Given the description of an element on the screen output the (x, y) to click on. 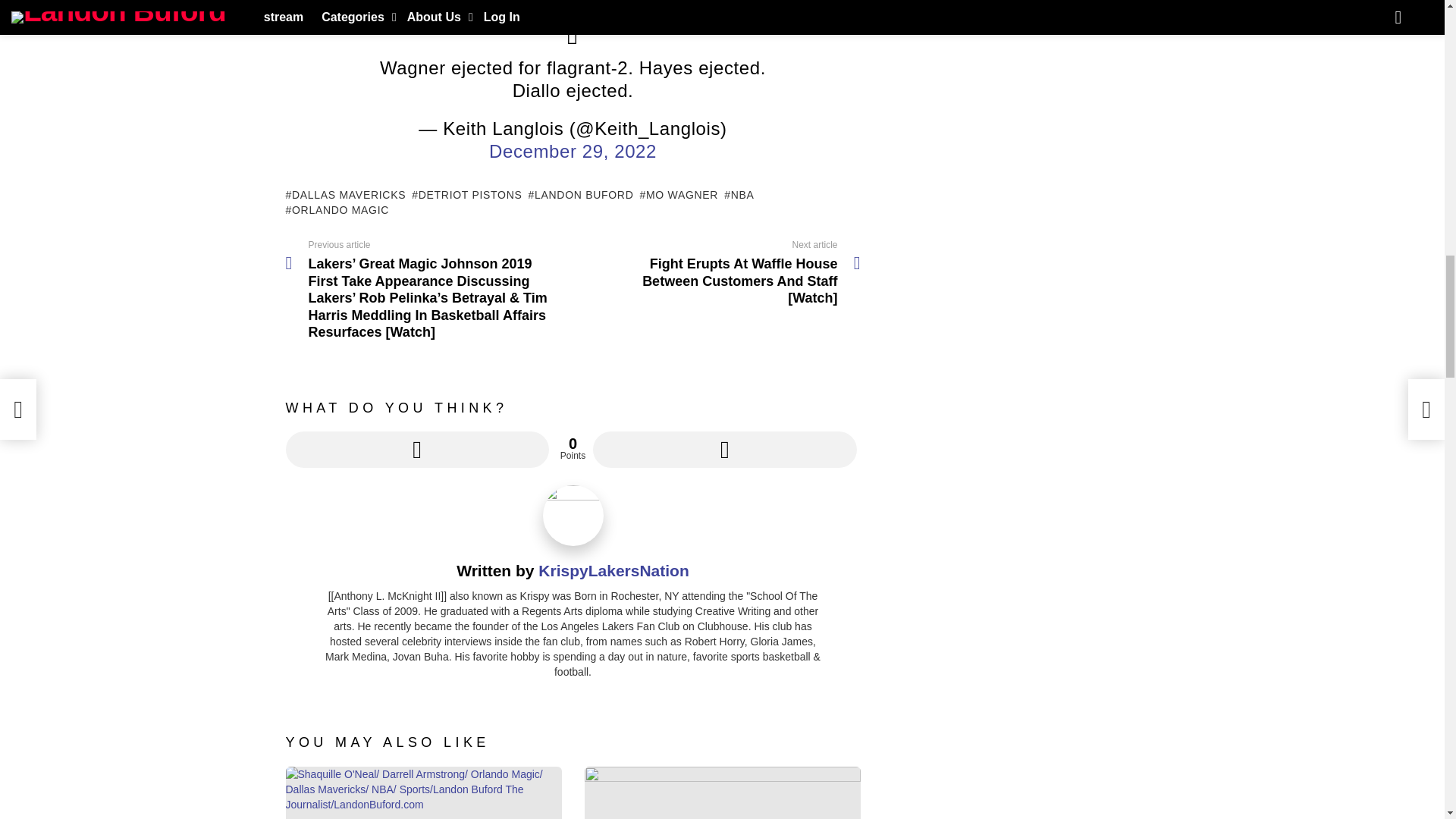
DALLAS MAVERICKS (345, 194)
Upvote (416, 449)
Nike Unleashes 2021-22 NBA City Edition Jerseys (721, 792)
Downvote (724, 449)
DETRIOT PISTONS (466, 194)
December 29, 2022 (572, 150)
NBA (738, 194)
MO WAGNER (678, 194)
LANDON BUFORD (580, 194)
